Given the description of an element on the screen output the (x, y) to click on. 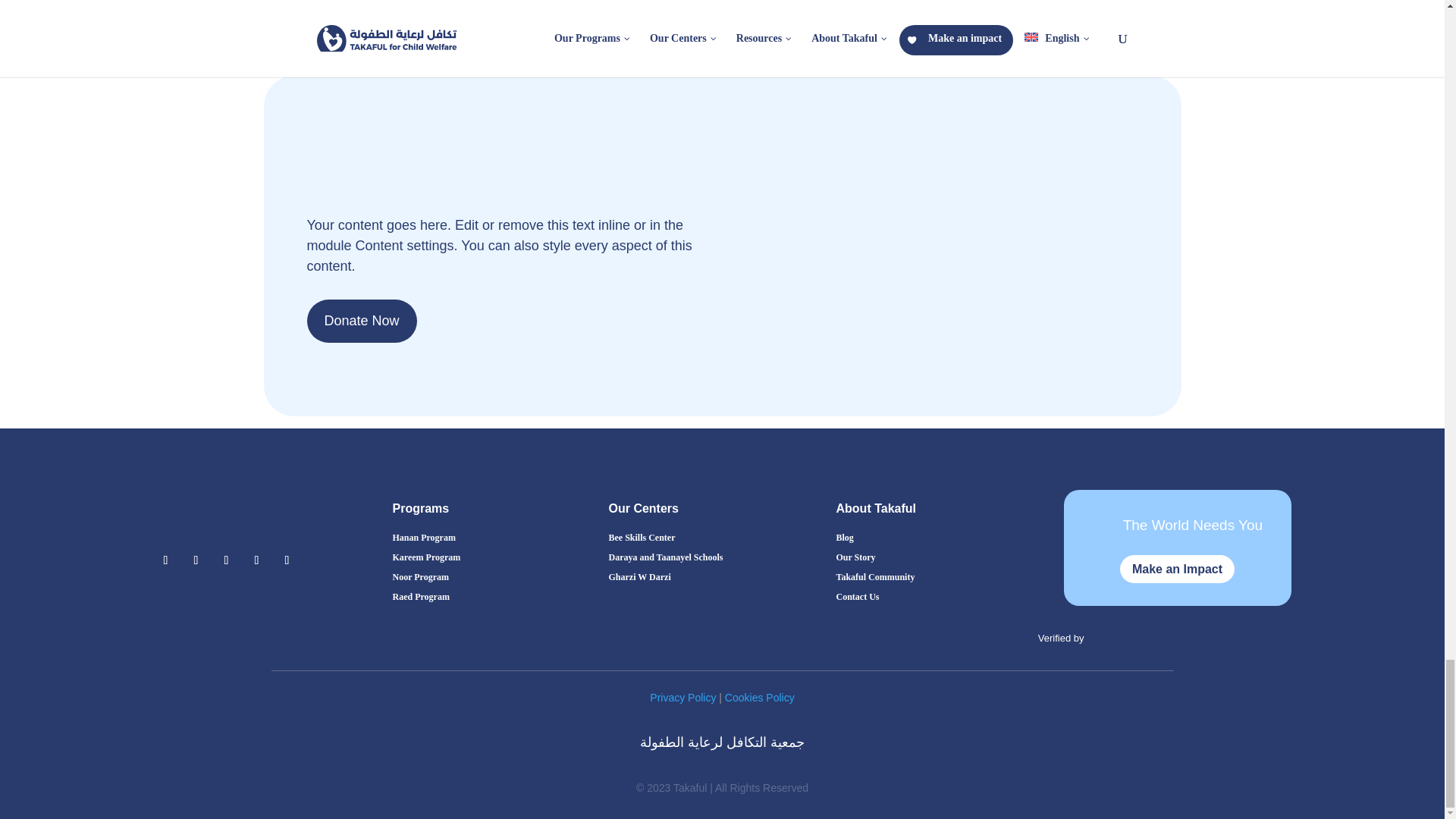
Follow on Instagram (195, 559)
Follow on Facebook (164, 559)
